Given the description of an element on the screen output the (x, y) to click on. 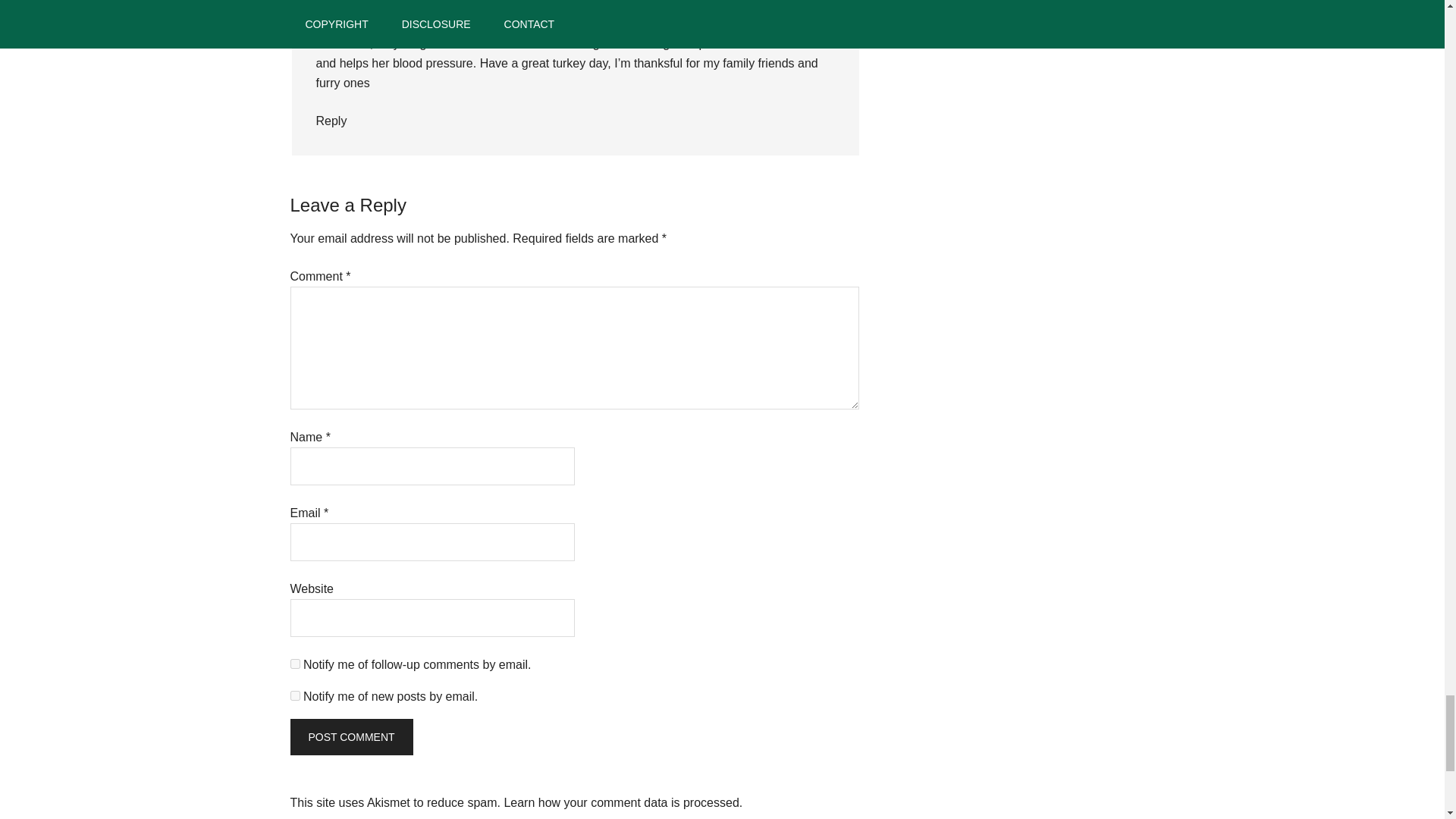
subscribe (294, 696)
Post Comment (350, 737)
subscribe (294, 664)
